Given the description of an element on the screen output the (x, y) to click on. 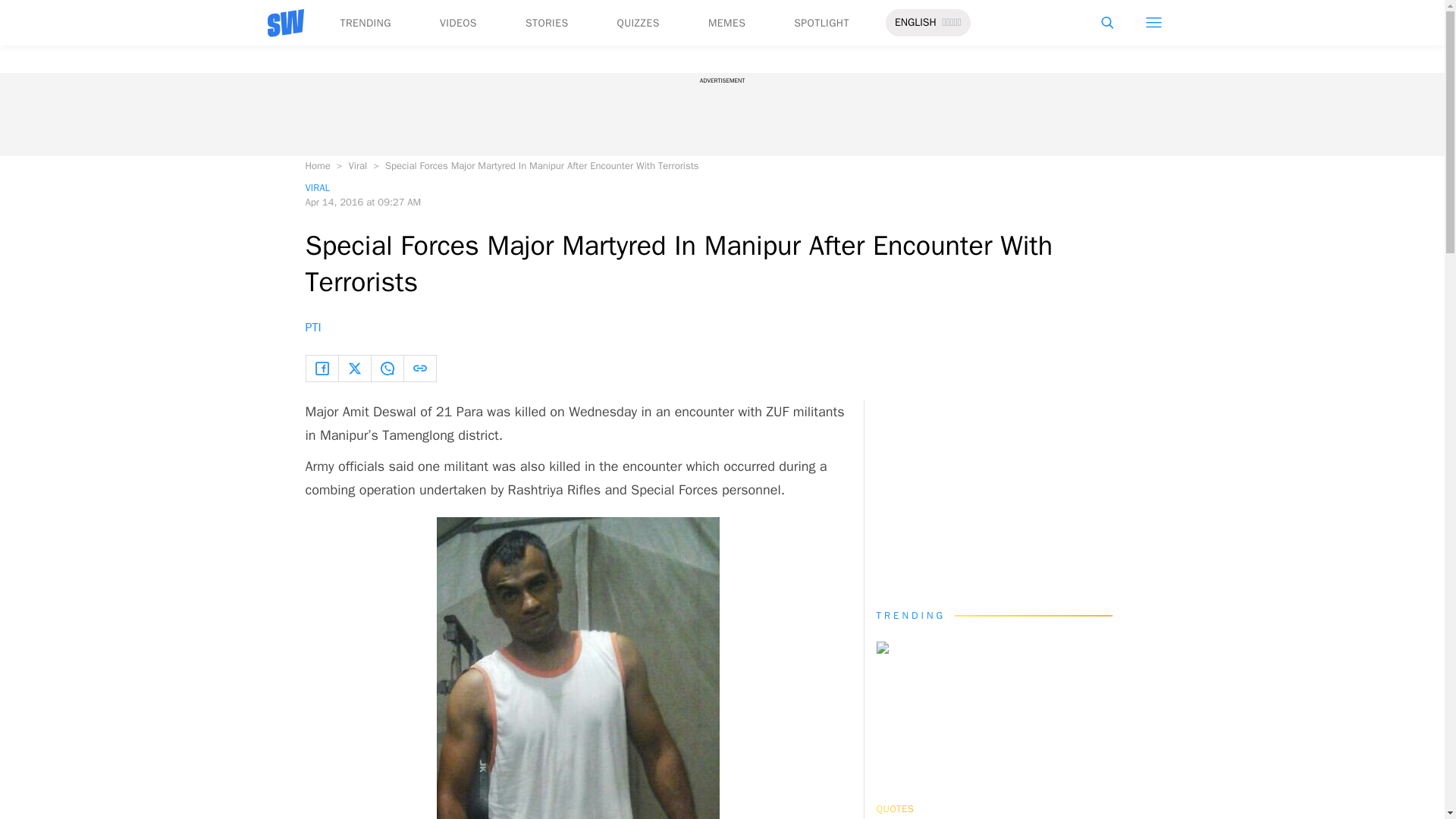
QUIZZES (638, 22)
MEMES (726, 22)
ENGLISH (915, 22)
SPOTLIGHT (820, 22)
TRENDING (364, 22)
STORIES (547, 22)
VIDEOS (458, 22)
